Given the description of an element on the screen output the (x, y) to click on. 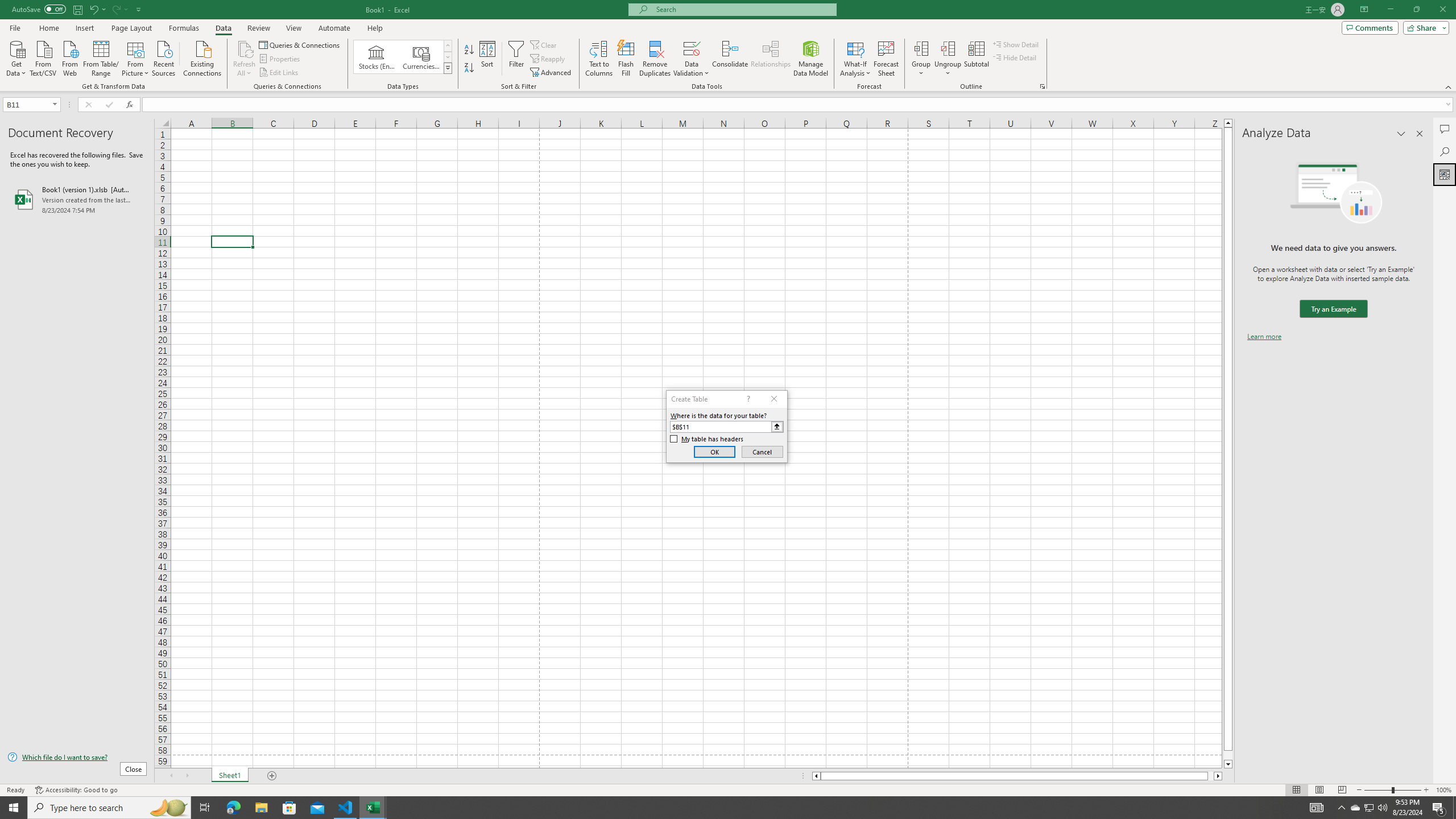
Flash Fill (625, 58)
Zoom (1392, 790)
Group and Outline Settings (1042, 85)
Which file do I want to save? (77, 757)
Remove Duplicates (654, 58)
Existing Connections (202, 57)
Page Break Preview (1342, 790)
What-If Analysis (855, 58)
